Given the description of an element on the screen output the (x, y) to click on. 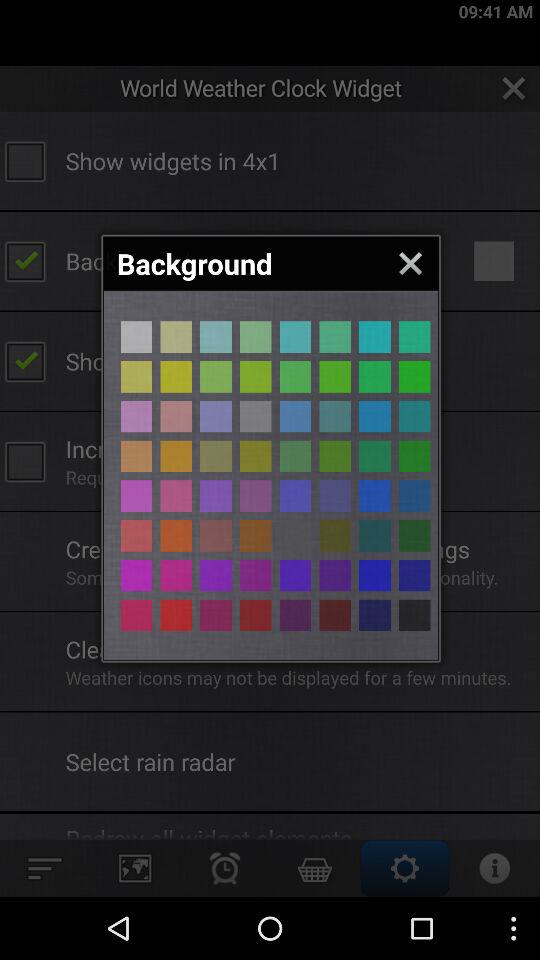
choose background color (136, 495)
